Given the description of an element on the screen output the (x, y) to click on. 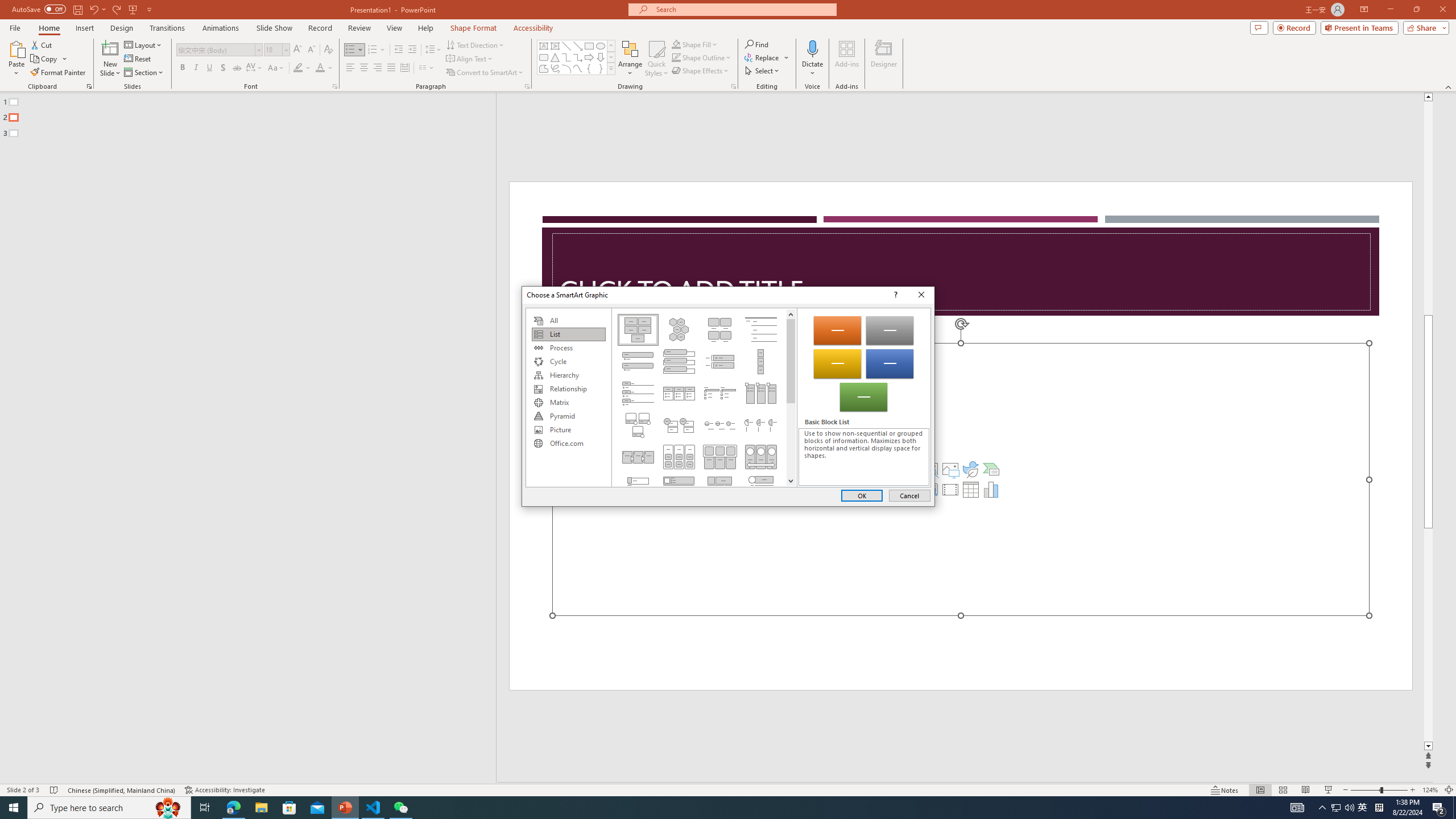
OK (861, 495)
Pie Process (761, 425)
Running applications (707, 807)
Zoom (1379, 790)
Action Center, 2 new notifications (1439, 807)
List (568, 334)
Rectangle (242, 437)
Text Highlight Color Yellow (297, 67)
View (395, 28)
Insert an Icon (970, 469)
Change Case (276, 67)
Vertical Text Box (554, 45)
PowerPoint - 1 running window (345, 807)
Convert to SmartArt (485, 72)
Grouped List (678, 457)
